Given the description of an element on the screen output the (x, y) to click on. 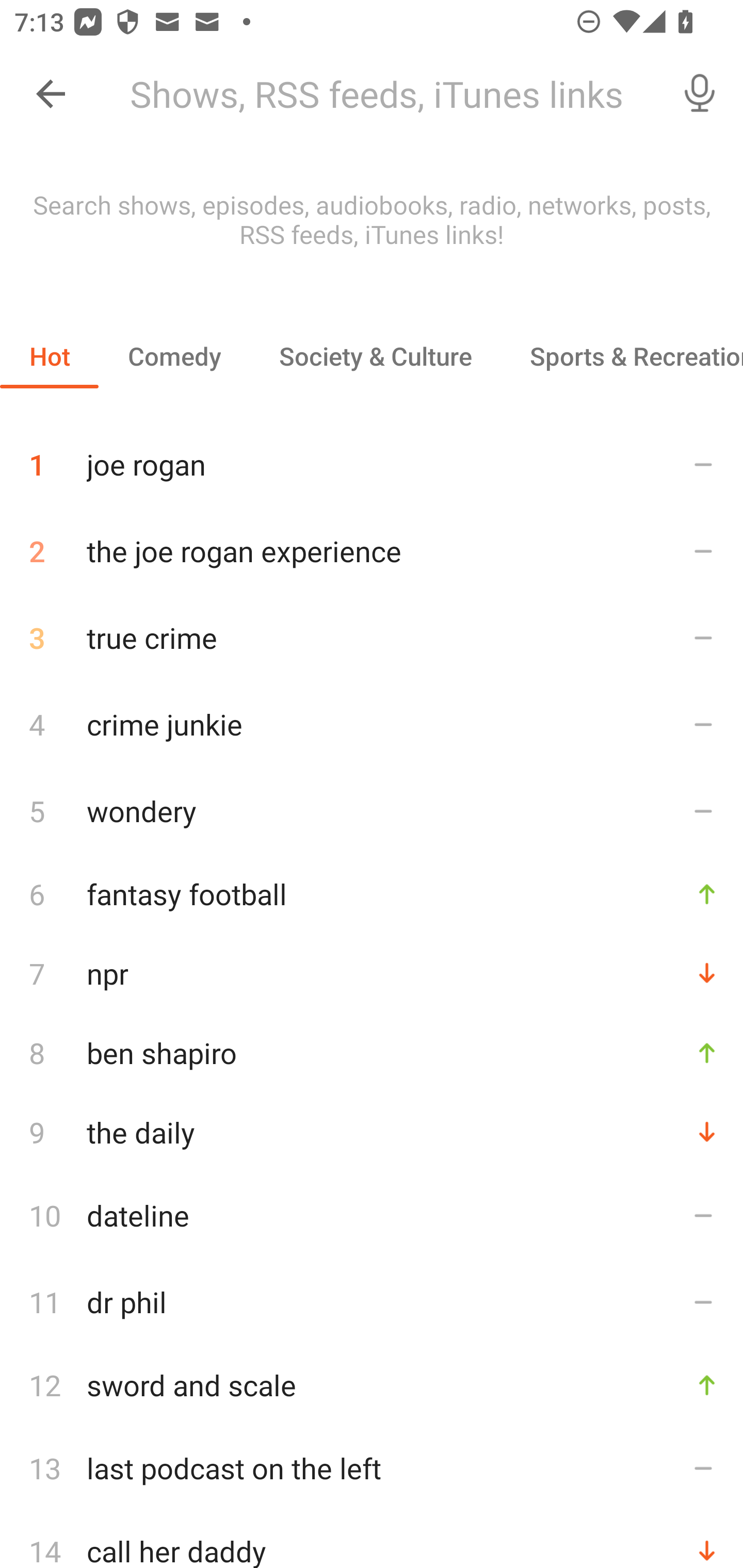
Collapse (50, 93)
Voice Search (699, 93)
Shows, RSS feeds, iTunes links (385, 94)
Hot (49, 355)
Comedy (173, 355)
Society & Culture (374, 355)
Sports & Recreation (621, 355)
1 joe rogan (371, 457)
2 the joe rogan experience (371, 551)
3 true crime (371, 637)
4 crime junkie (371, 723)
5 wondery (371, 810)
6 fantasy football (371, 893)
7 npr (371, 972)
8 ben shapiro (371, 1052)
9 the daily (371, 1131)
10 dateline (371, 1215)
11 dr phil (371, 1302)
12 sword and scale (371, 1385)
13 last podcast on the left (371, 1468)
14 call her daddy (371, 1539)
